Given the description of an element on the screen output the (x, y) to click on. 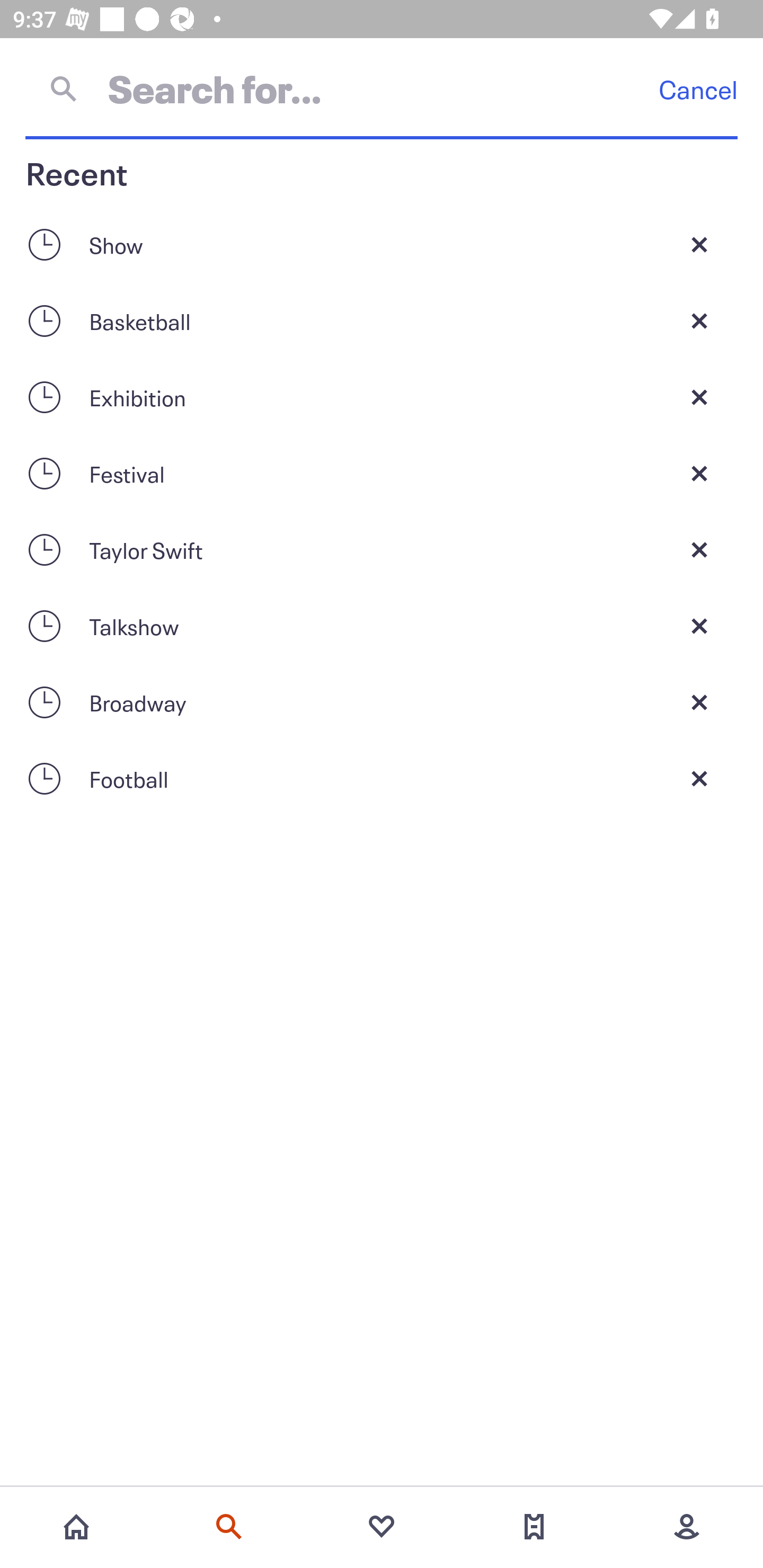
Cancel Search for… (381, 88)
Cancel (697, 89)
Show Close current screen (381, 244)
Close current screen (699, 244)
Basketball Close current screen (381, 320)
Close current screen (699, 320)
Exhibition Close current screen (381, 397)
Close current screen (699, 397)
Festival Close current screen (381, 473)
Close current screen (699, 473)
Taylor Swift Close current screen (381, 549)
Close current screen (699, 549)
Talkshow Close current screen (381, 626)
Close current screen (699, 626)
Broadway Close current screen (381, 702)
Close current screen (699, 702)
Football Close current screen (381, 778)
Close current screen (699, 778)
Home (76, 1526)
Search events (228, 1526)
Favorites (381, 1526)
Tickets (533, 1526)
More (686, 1526)
